Given the description of an element on the screen output the (x, y) to click on. 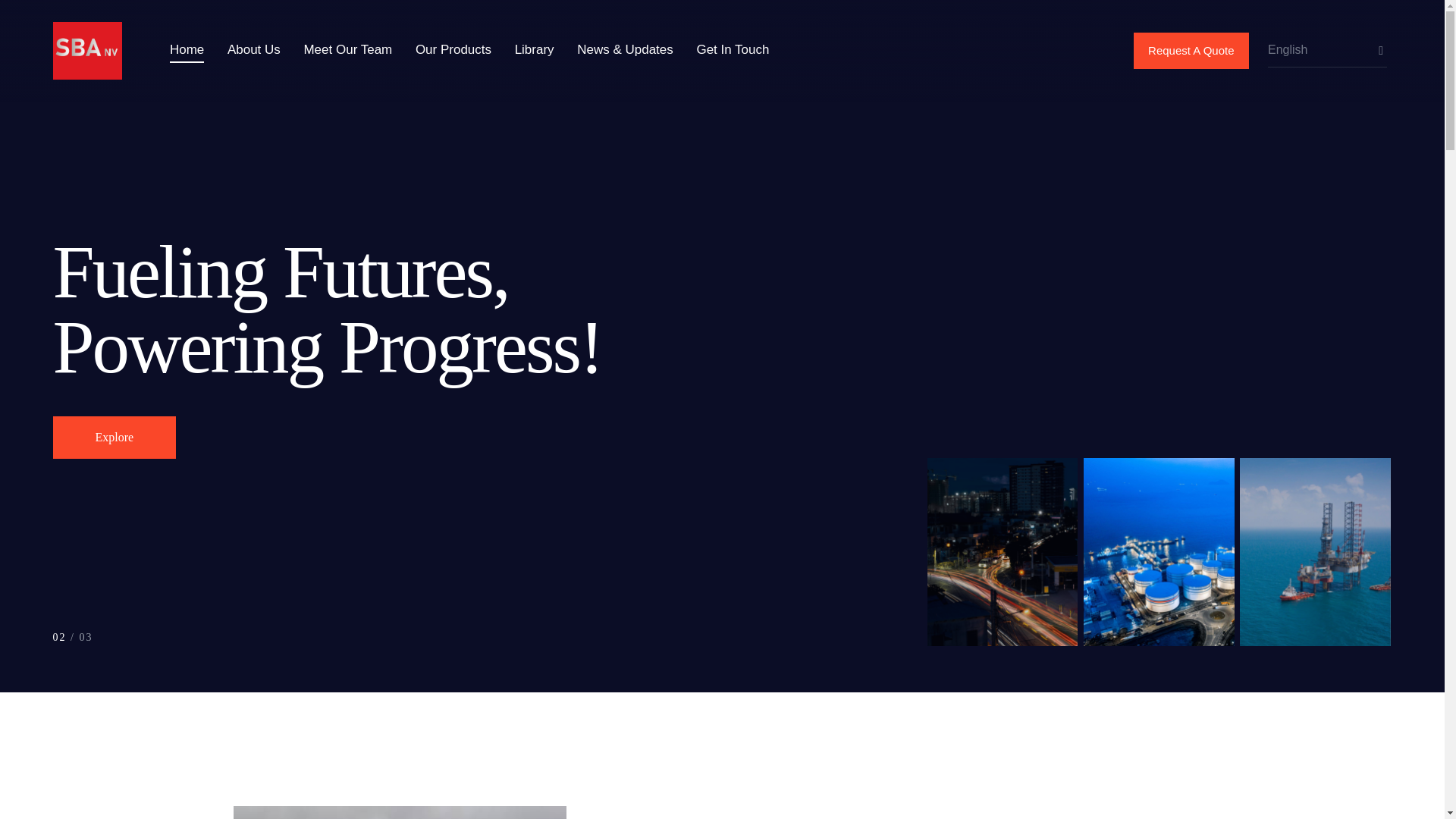
About Us (253, 50)
Library (534, 50)
Get In Touch (732, 50)
Request A Quote (1190, 50)
Our Products (453, 50)
Meet Our Team (347, 50)
Home (186, 50)
patrick-hendry-6xeDIZgoPaw-unsplash (399, 812)
